Given the description of an element on the screen output the (x, y) to click on. 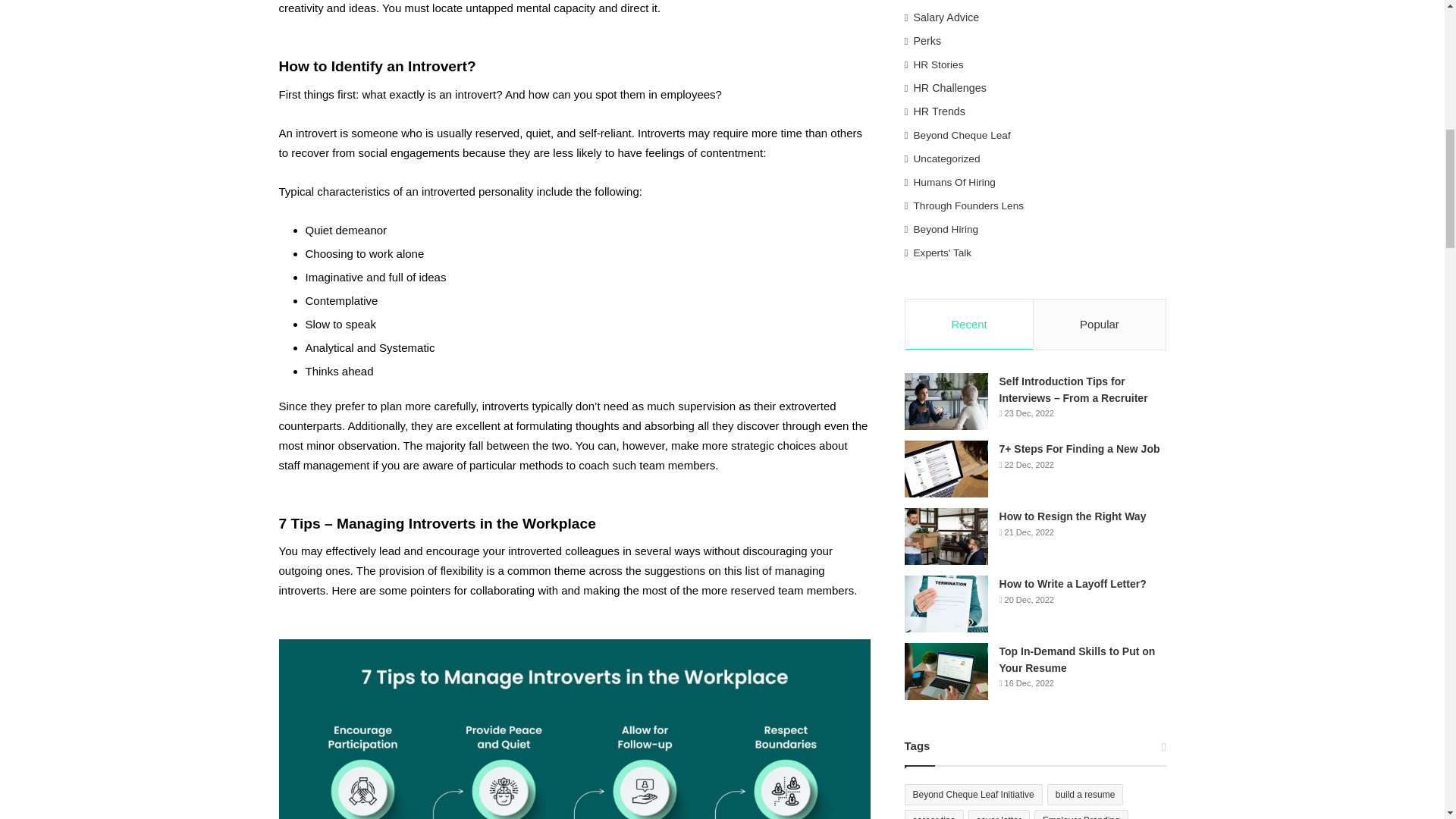
The sharing or exchange (967, 1)
Beyond Cheque Leaf (962, 135)
Experts' Talk (943, 252)
